Given the description of an element on the screen output the (x, y) to click on. 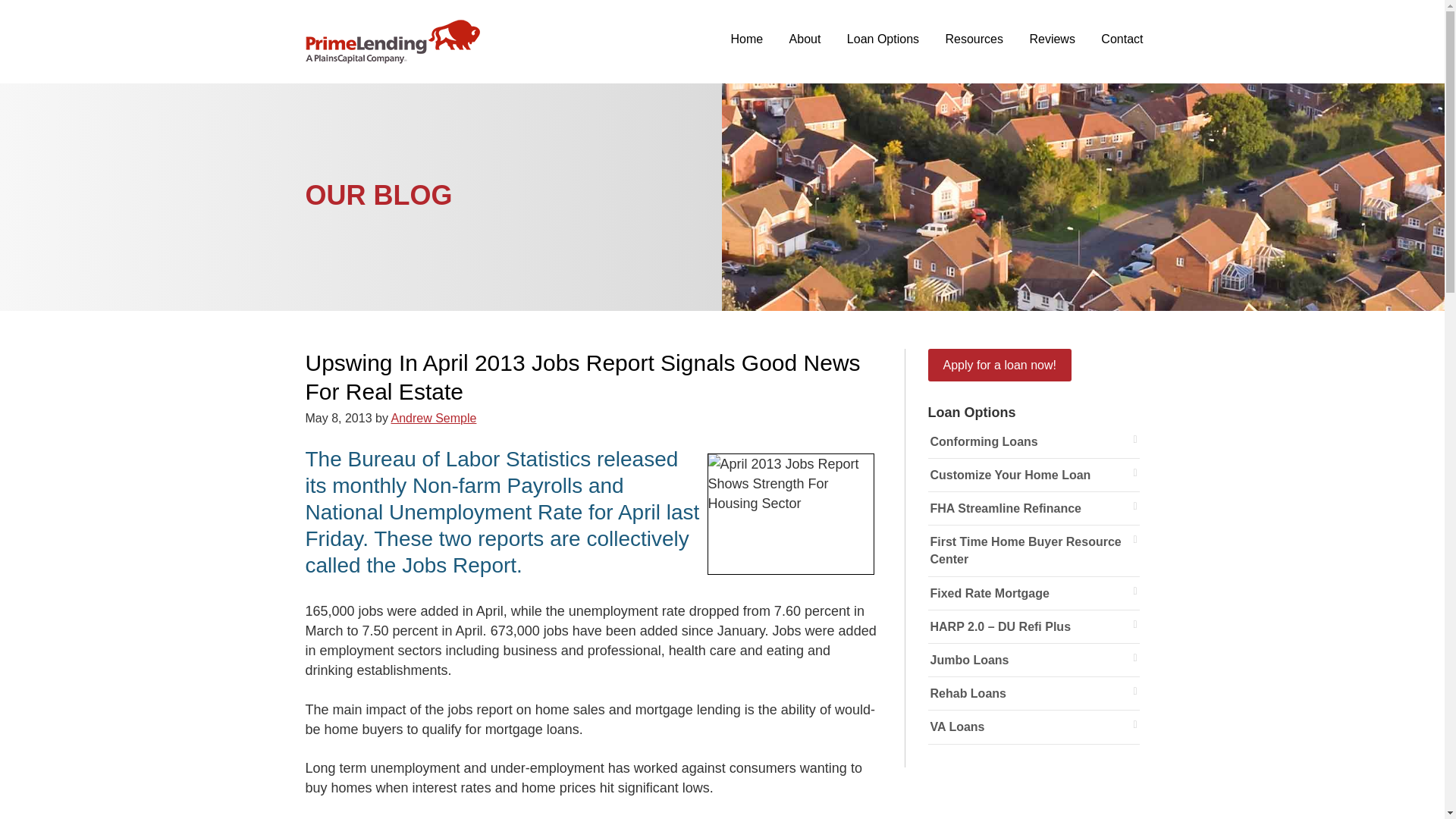
First Time Home Buyer Resource Center (1034, 550)
Jumbo Loans (1034, 660)
About (804, 39)
Contact (1121, 39)
April 2013 Jobs Report Shows Strength For Housing Sector (789, 513)
Customize Your Home Loan (1034, 475)
FHA Streamline Refinance (1034, 508)
Fixed Rate Mortgage (1034, 593)
Conforming Loans (1034, 441)
Reviews (1051, 39)
Andrew Semple, PrimeLending (391, 41)
Resources (974, 39)
Rehab Loans (1034, 693)
Home (746, 39)
